Given the description of an element on the screen output the (x, y) to click on. 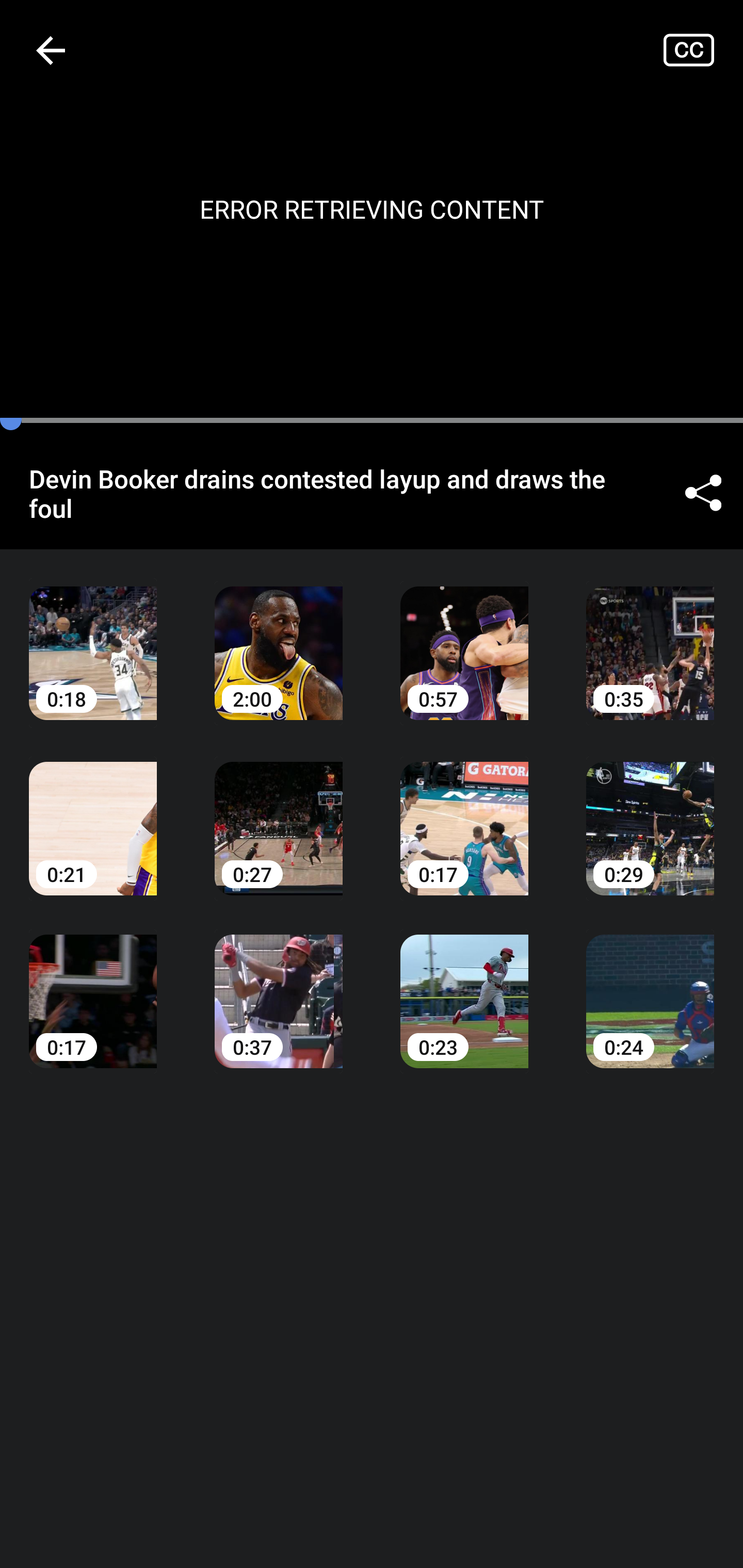
Navigate up (50, 50)
Closed captions  (703, 49)
Share © (703, 493)
0:18 (92, 637)
2:00 (278, 637)
0:57 (464, 637)
0:35 (650, 637)
0:21 (92, 813)
0:27 (278, 813)
0:17 (464, 813)
0:29 (650, 813)
0:17 (92, 987)
0:37 (278, 987)
0:23 (464, 987)
0:24 (650, 987)
